Given the description of an element on the screen output the (x, y) to click on. 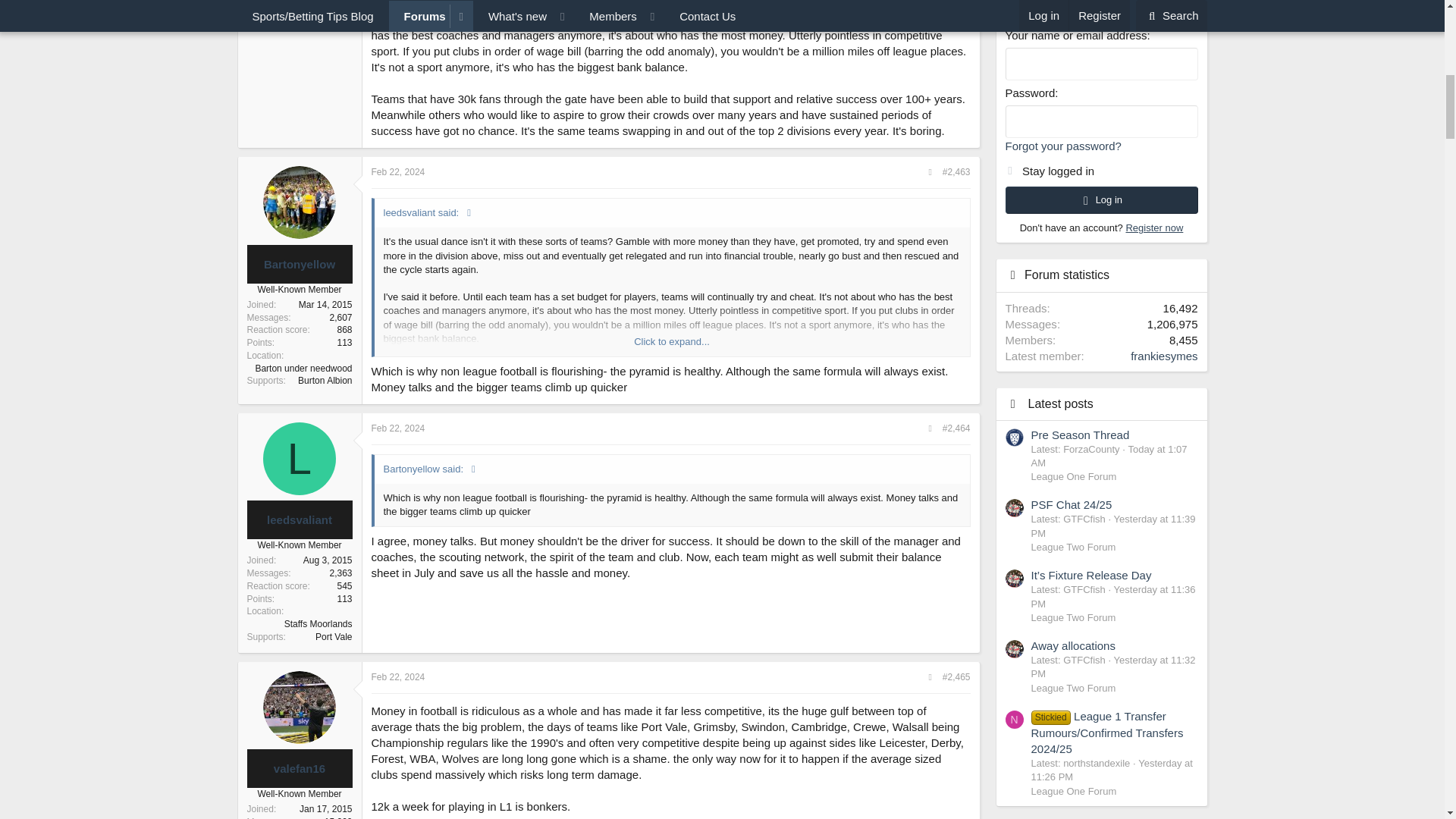
1 (1008, 166)
Feb 22, 2024 at 1:12 PM (398, 676)
Feb 22, 2024 at 12:56 PM (398, 428)
Feb 22, 2024 at 12:49 PM (398, 172)
